Given the description of an element on the screen output the (x, y) to click on. 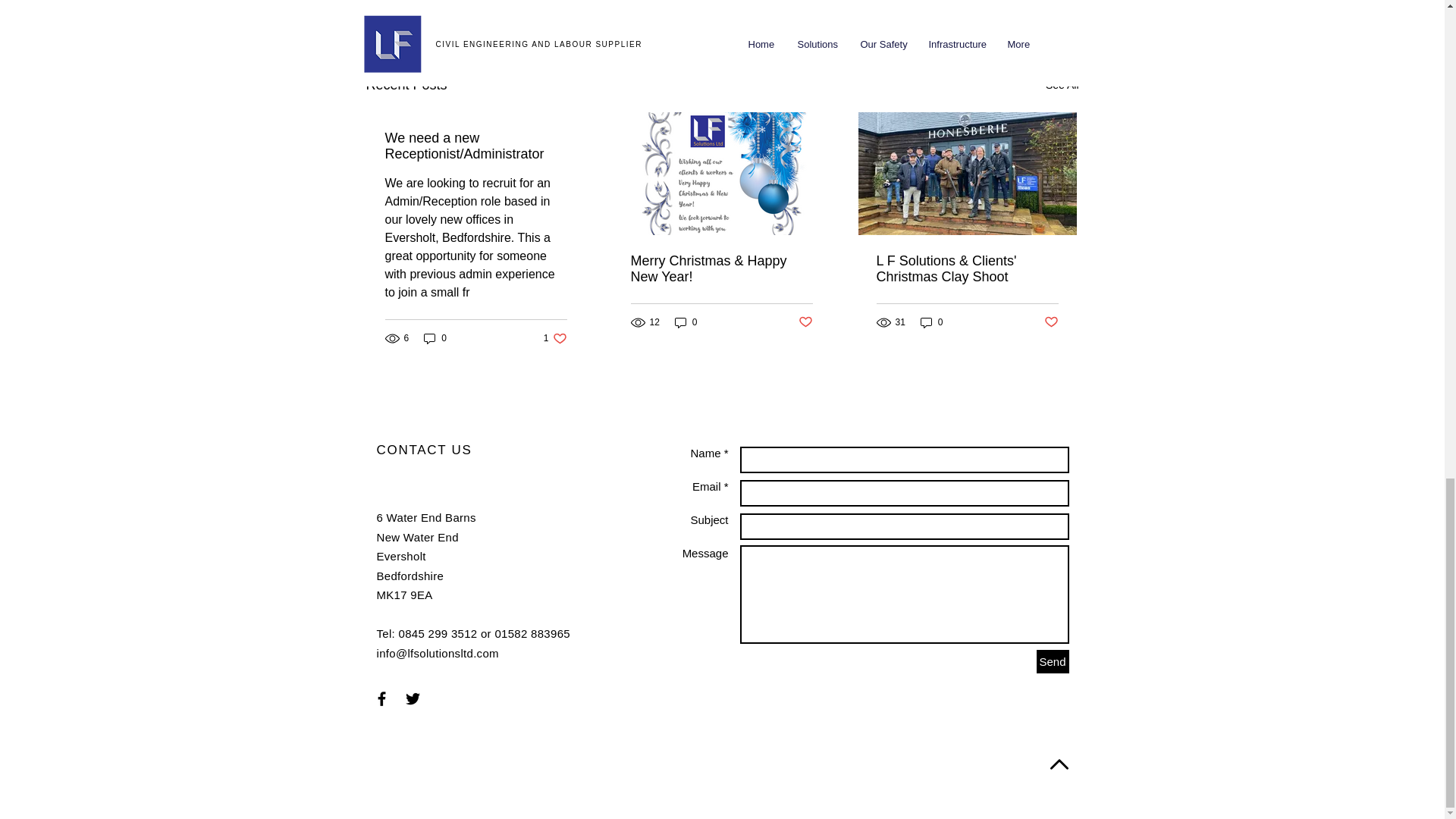
0 (555, 338)
See All (685, 321)
0 (1061, 85)
Post not marked as liked (435, 338)
Post not marked as liked (995, 5)
